Given the description of an element on the screen output the (x, y) to click on. 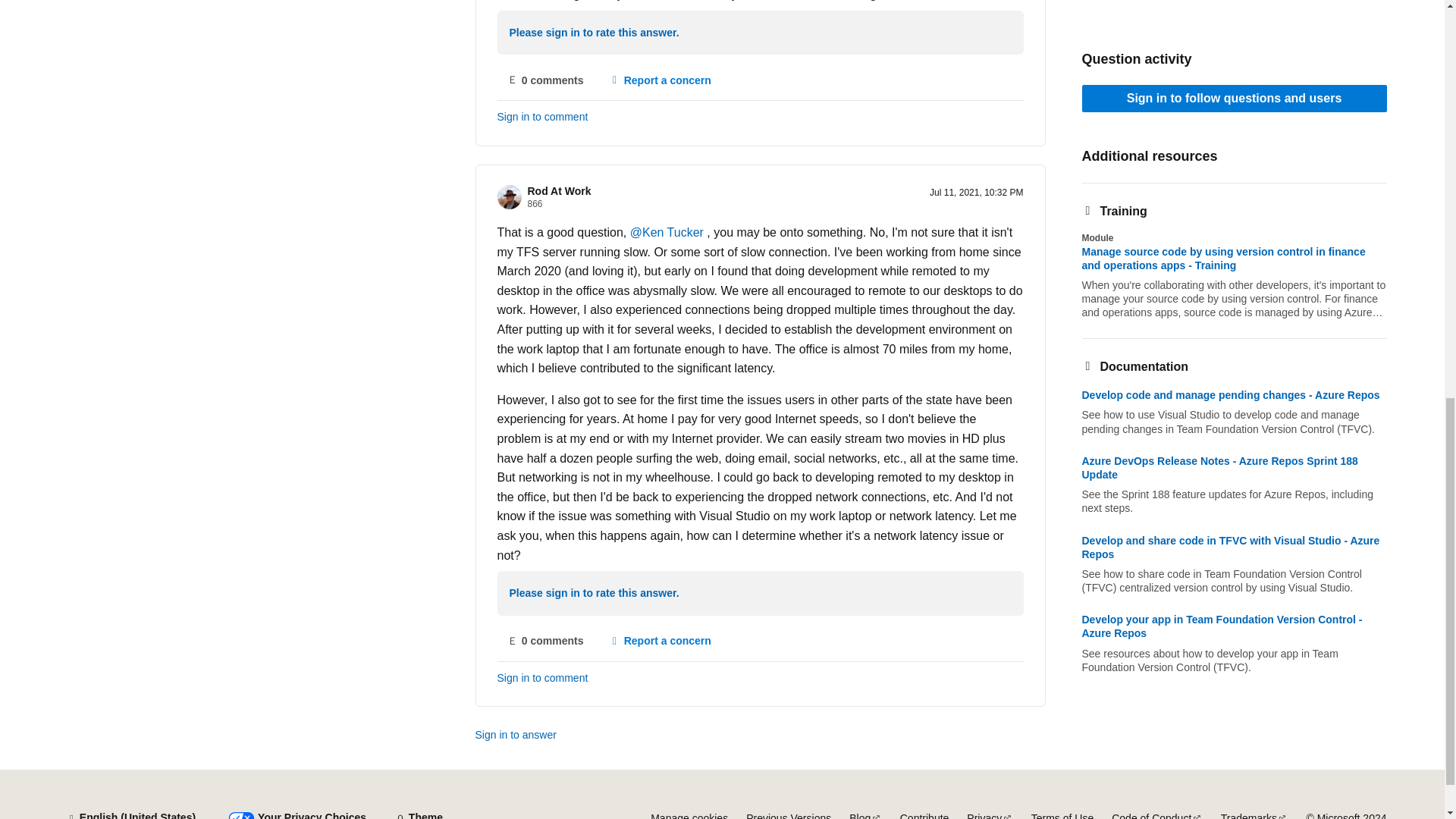
Report a concern (659, 641)
No comments (545, 641)
Report a concern (659, 80)
Reputation points (535, 204)
No comments (545, 80)
